Given the description of an element on the screen output the (x, y) to click on. 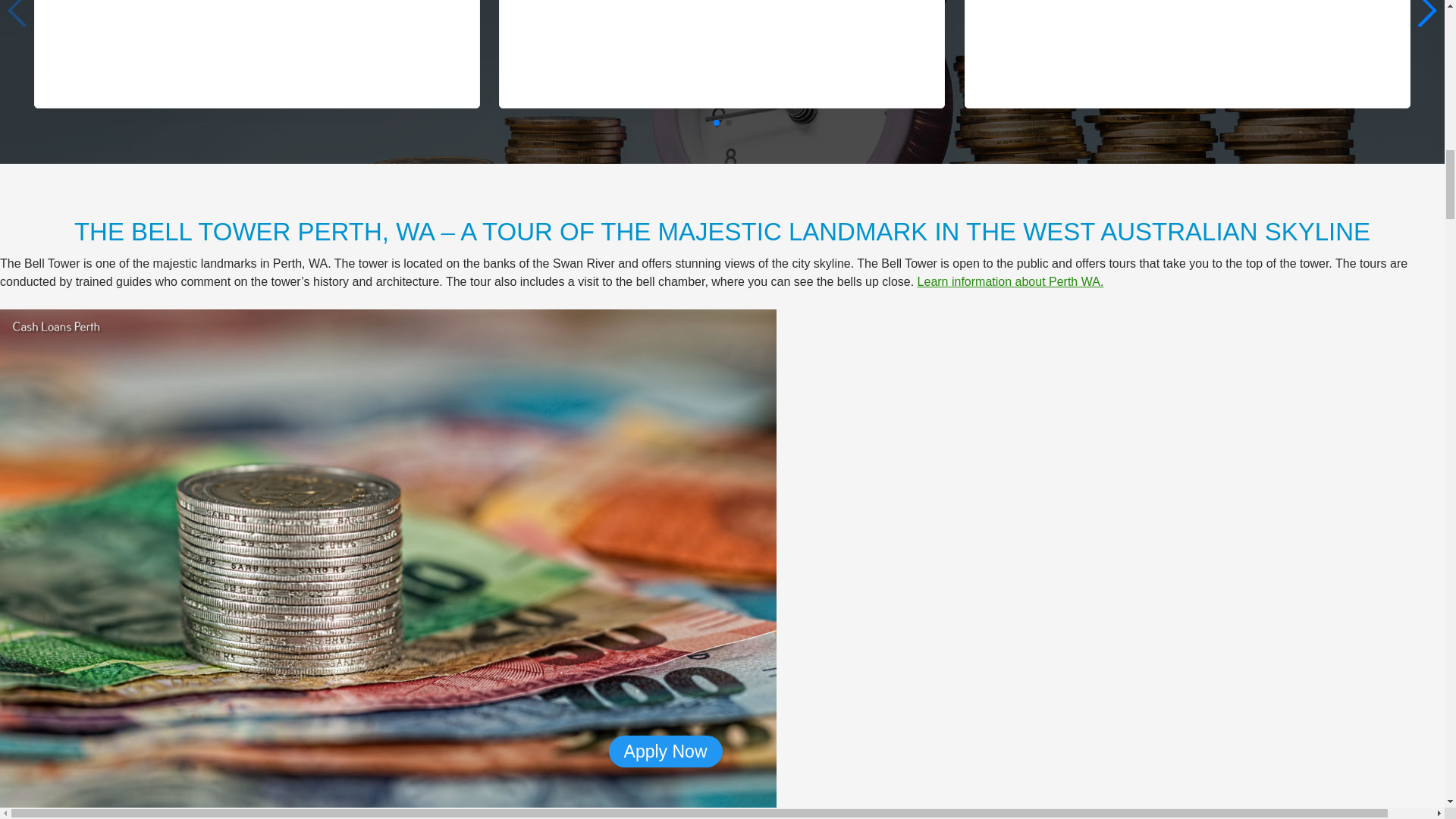
Good service (722, 47)
Fantastic service and quick (275, 47)
I was very happy with how easy it was to do the application (1186, 47)
I was very happy with how easy it was to do the application (1205, 47)
Fantastic service and quick (256, 47)
Good service (741, 47)
Learn information about Perth WA. (1010, 281)
